Given the description of an element on the screen output the (x, y) to click on. 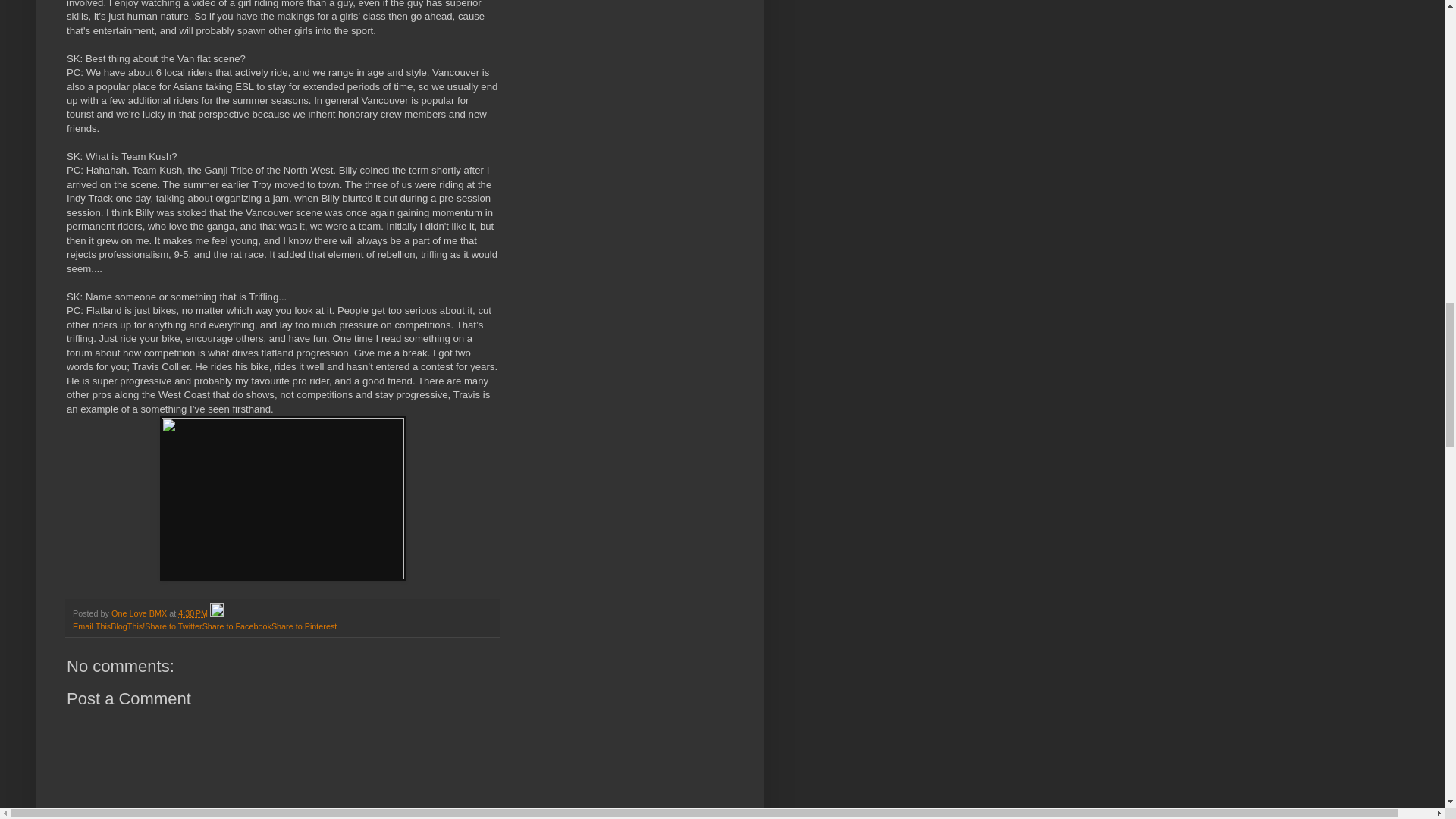
One Love BMX (140, 613)
Share to Facebook (236, 625)
Share to Pinterest (303, 625)
Share to Twitter (173, 625)
Email This (91, 625)
Edit Post (216, 613)
author profile (140, 613)
permanent link (192, 613)
Share to Pinterest (303, 625)
BlogThis! (127, 625)
Share to Twitter (173, 625)
Share to Facebook (236, 625)
BlogThis! (127, 625)
Email This (91, 625)
